Given the description of an element on the screen output the (x, y) to click on. 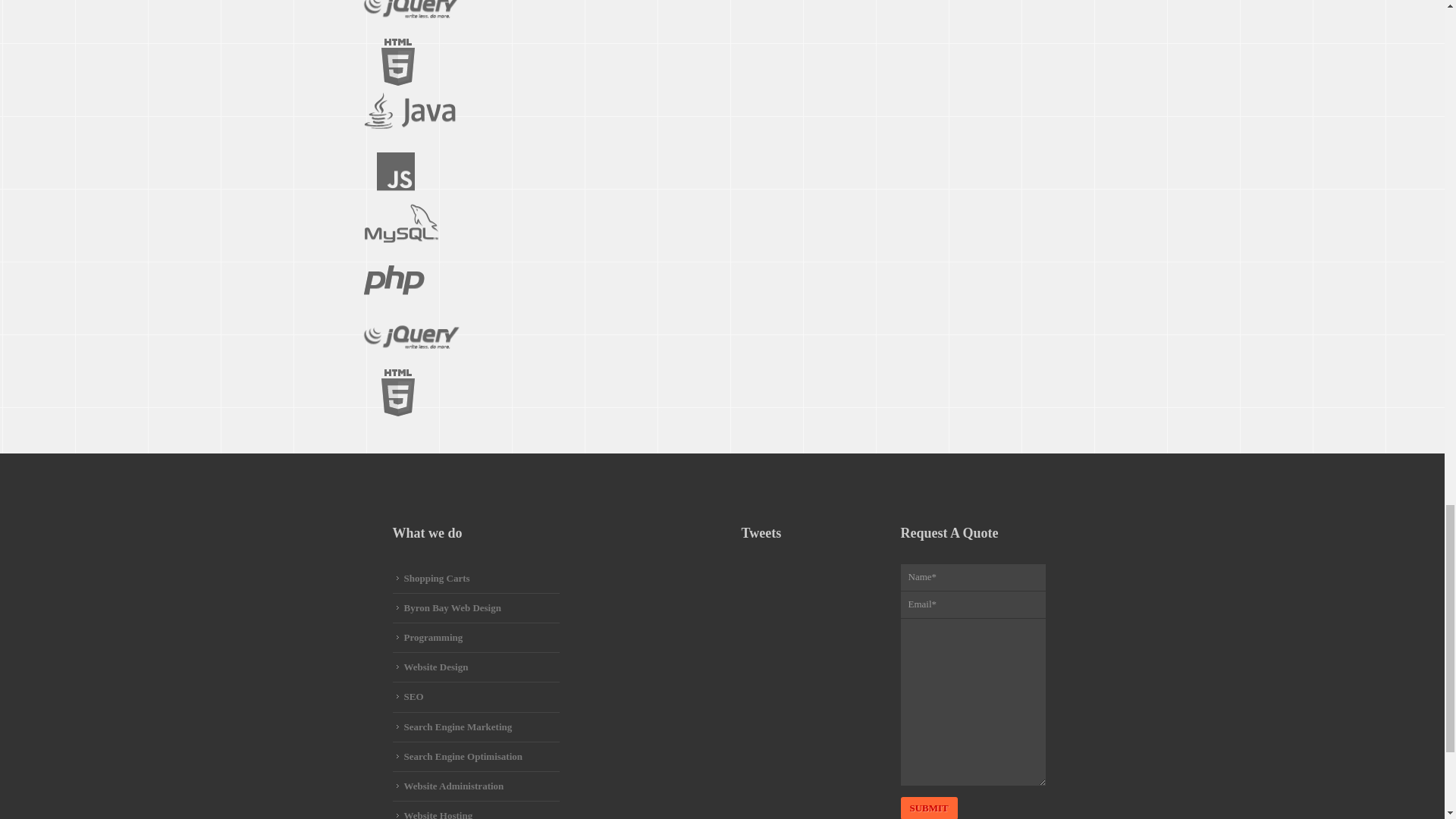
SUBMIT (929, 807)
Website Administration (449, 785)
Website Hosting (433, 814)
Programming (429, 636)
Byron Bay Web Design (448, 607)
SEO (409, 696)
SUBMIT (929, 807)
Website Design (431, 666)
Search Engine Marketing (454, 726)
Search Engine Optimisation (459, 756)
Shopping Carts (432, 577)
